Given the description of an element on the screen output the (x, y) to click on. 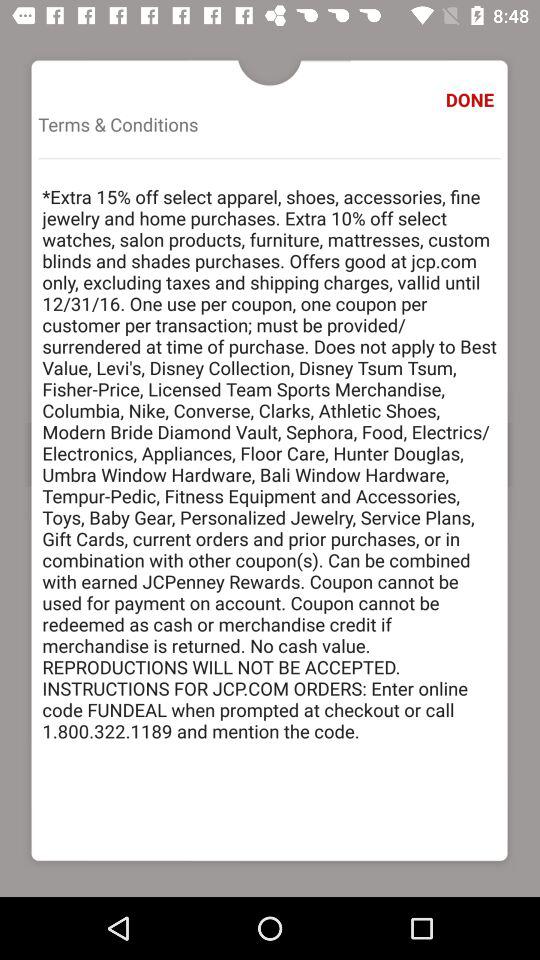
flip to the done icon (472, 99)
